Given the description of an element on the screen output the (x, y) to click on. 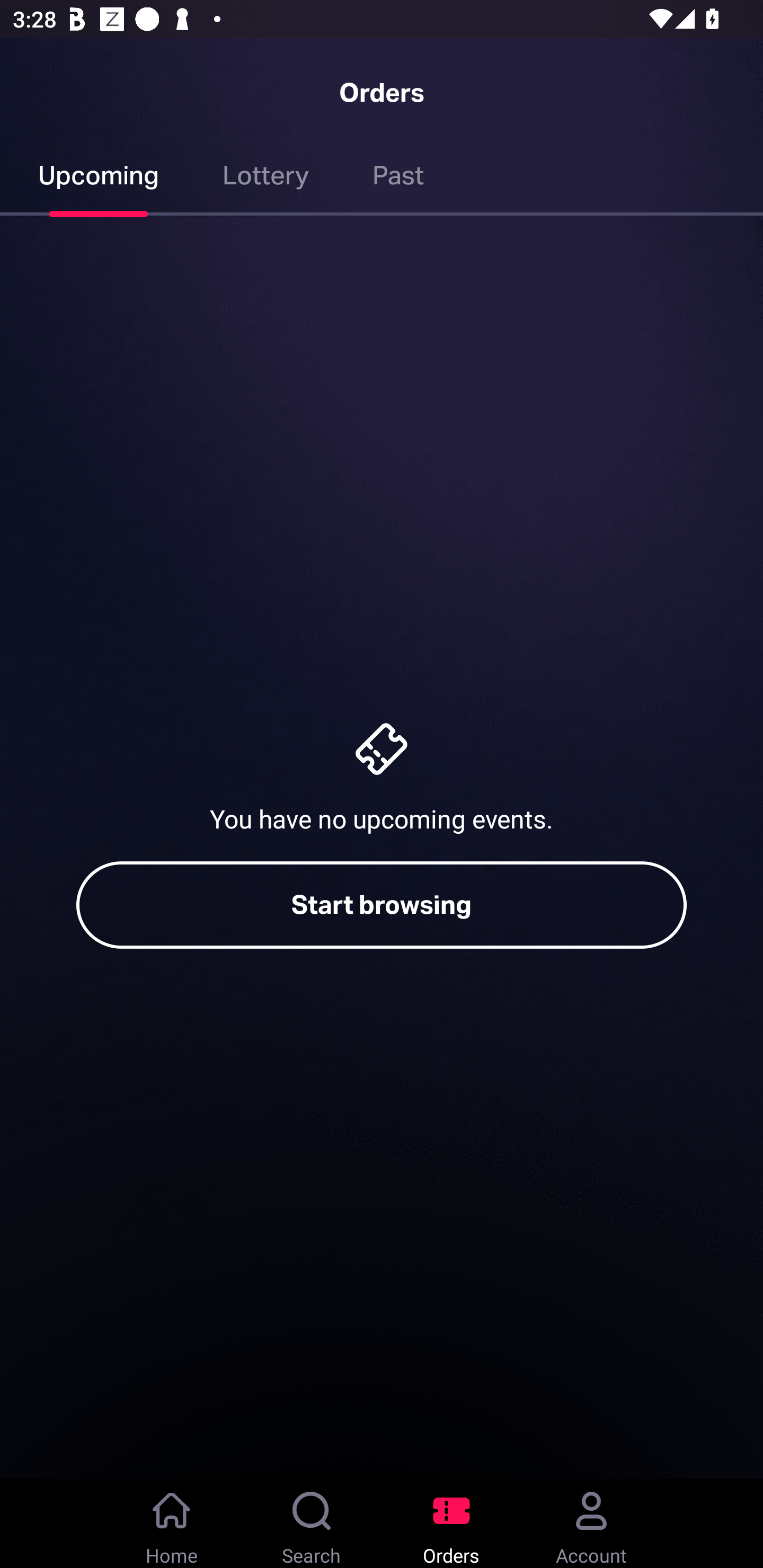
Lottery (265, 179)
Past (398, 179)
Start browsing (381, 904)
Home (171, 1523)
Search (311, 1523)
Account (591, 1523)
